Given the description of an element on the screen output the (x, y) to click on. 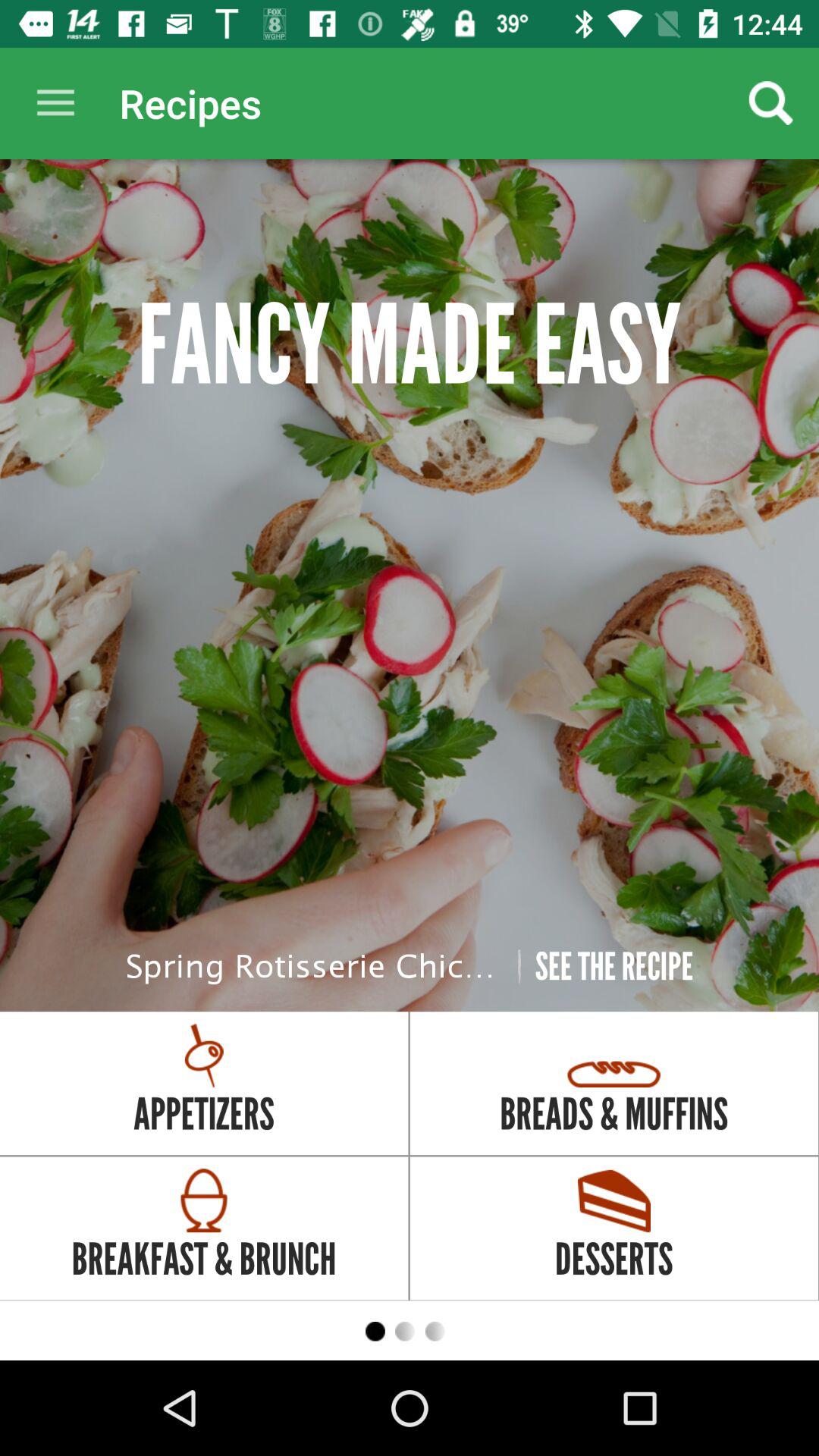
open the icon above fancy made easy (771, 103)
